Given the description of an element on the screen output the (x, y) to click on. 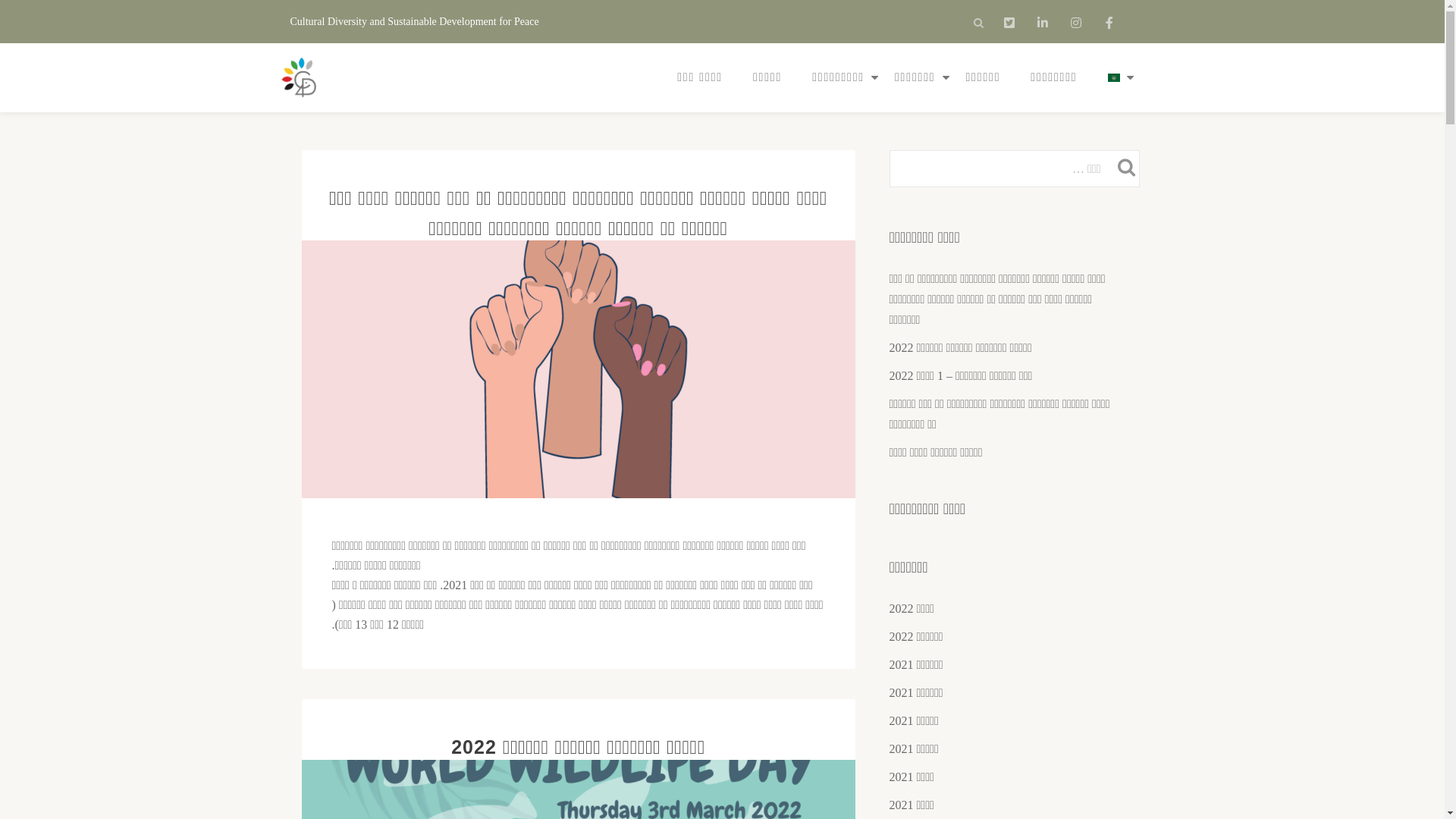
Skip to content Element type: text (0, 29)
